Given the description of an element on the screen output the (x, y) to click on. 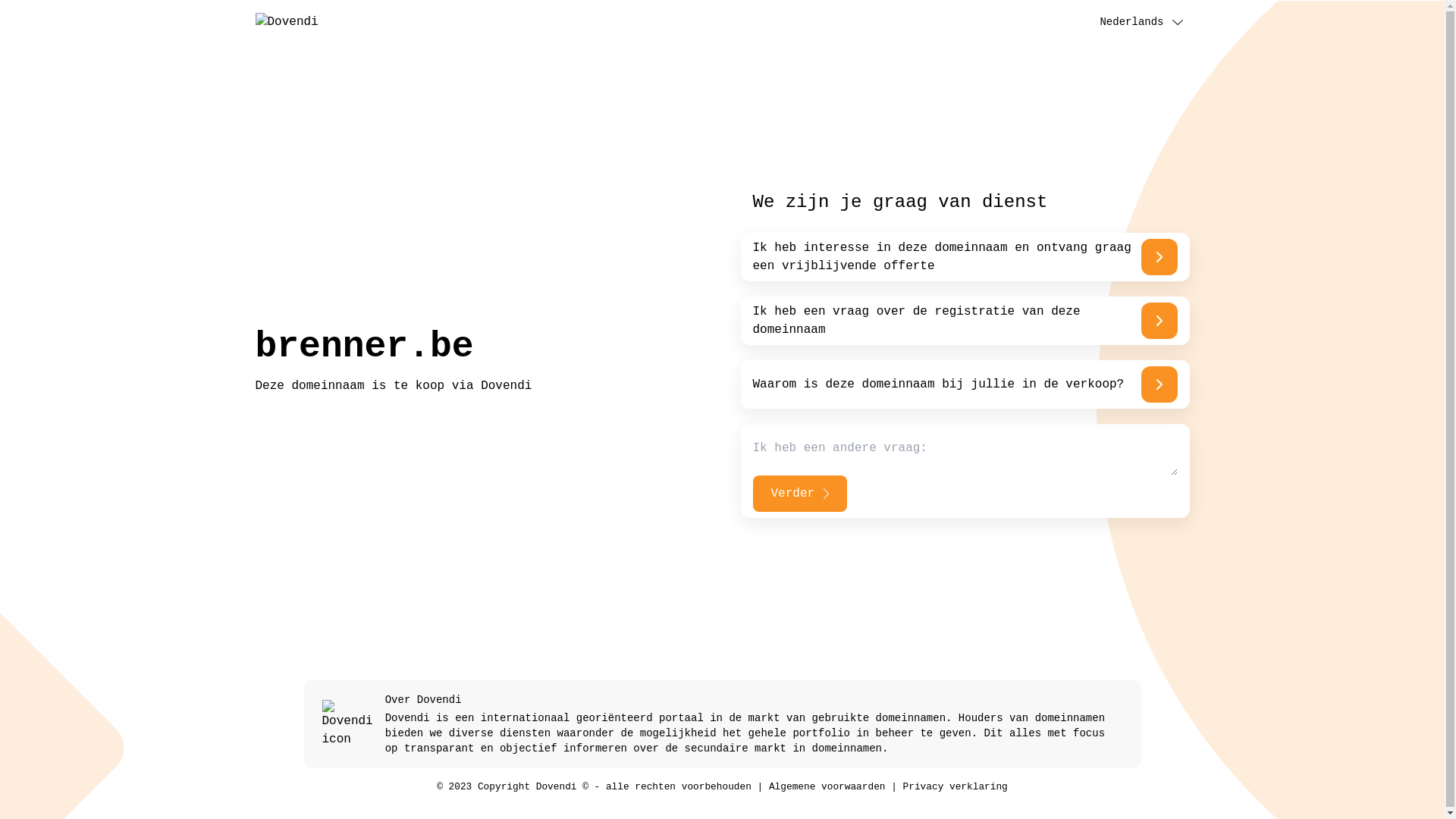
Algemene voorwaarden Element type: text (826, 786)
Verder Element type: text (799, 493)
Privacy verklaring Element type: text (955, 786)
